Given the description of an element on the screen output the (x, y) to click on. 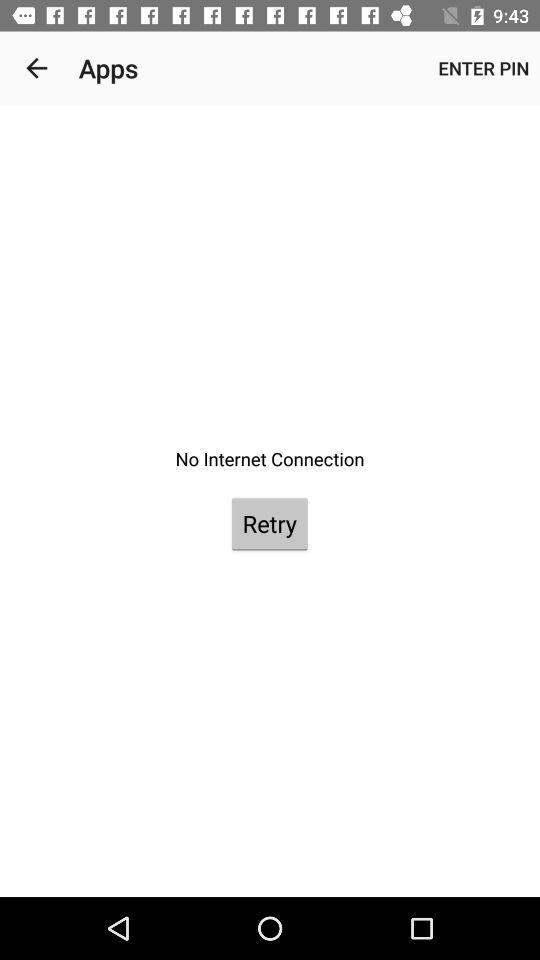
turn on the enter pin item (483, 67)
